Given the description of an element on the screen output the (x, y) to click on. 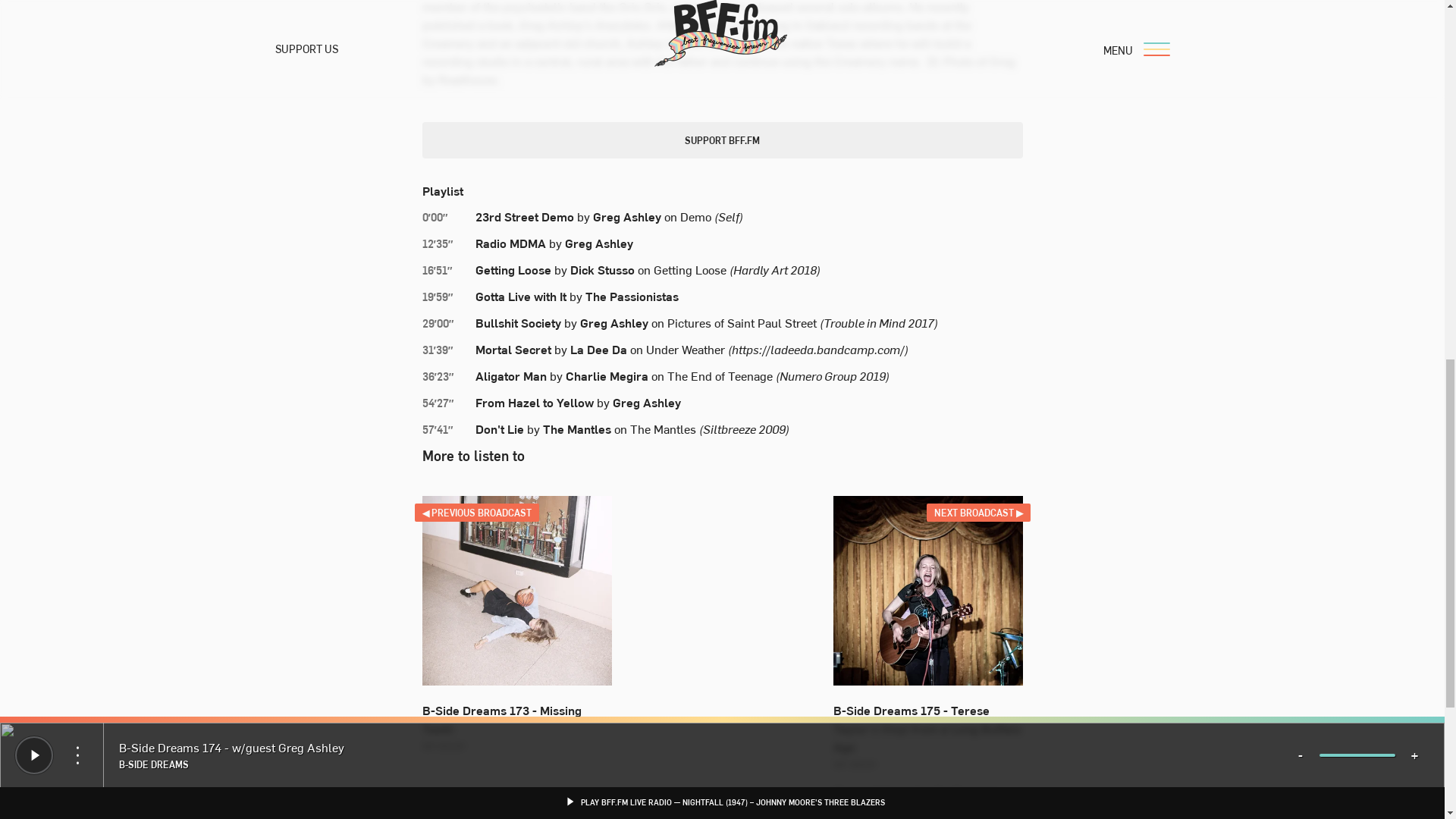
9:57:41am (448, 429)
9:29:00am (448, 323)
B-Side Dreams 173 - Missing Teeth - B-Side Dreams (516, 590)
Mortal Secret (512, 348)
9:16:51am (448, 270)
9:36:23am (448, 376)
Trouble in Mind 2017 (879, 321)
Pictures of Saint Paul Street (741, 321)
Under Weather (685, 348)
Self (727, 216)
9:54:27am (448, 402)
Greg Ashley (597, 242)
Bullshit Society (517, 321)
23rd Street Demo (523, 216)
